Given the description of an element on the screen output the (x, y) to click on. 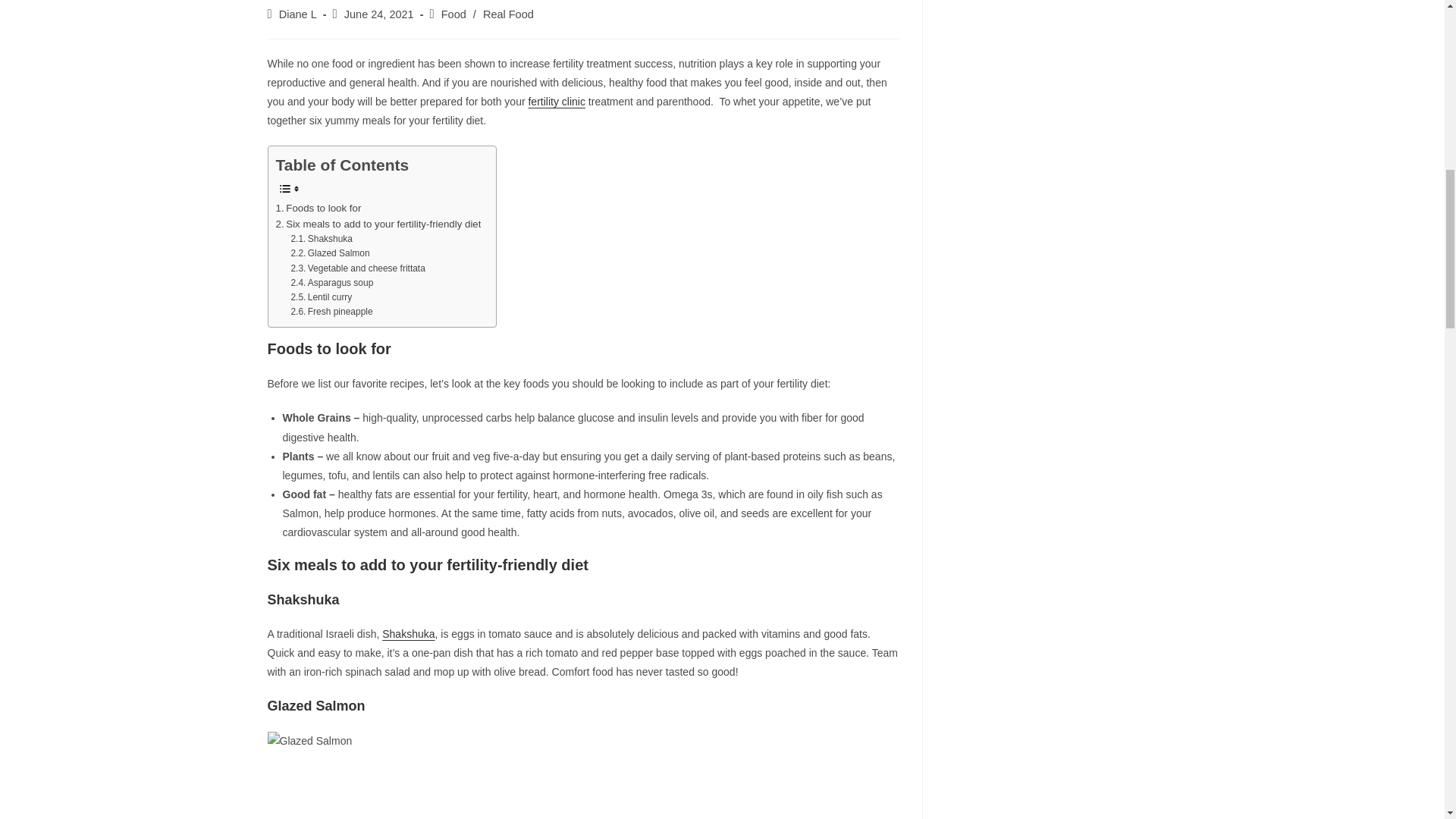
Glazed Salmon (329, 253)
Lentil curry (320, 297)
Foods to look for (318, 207)
Six meals to add to your fertility-friendly diet (378, 223)
Posts by Diane L (298, 14)
Vegetable and cheese frittata (357, 268)
Asparagus soup (330, 283)
